Given the description of an element on the screen output the (x, y) to click on. 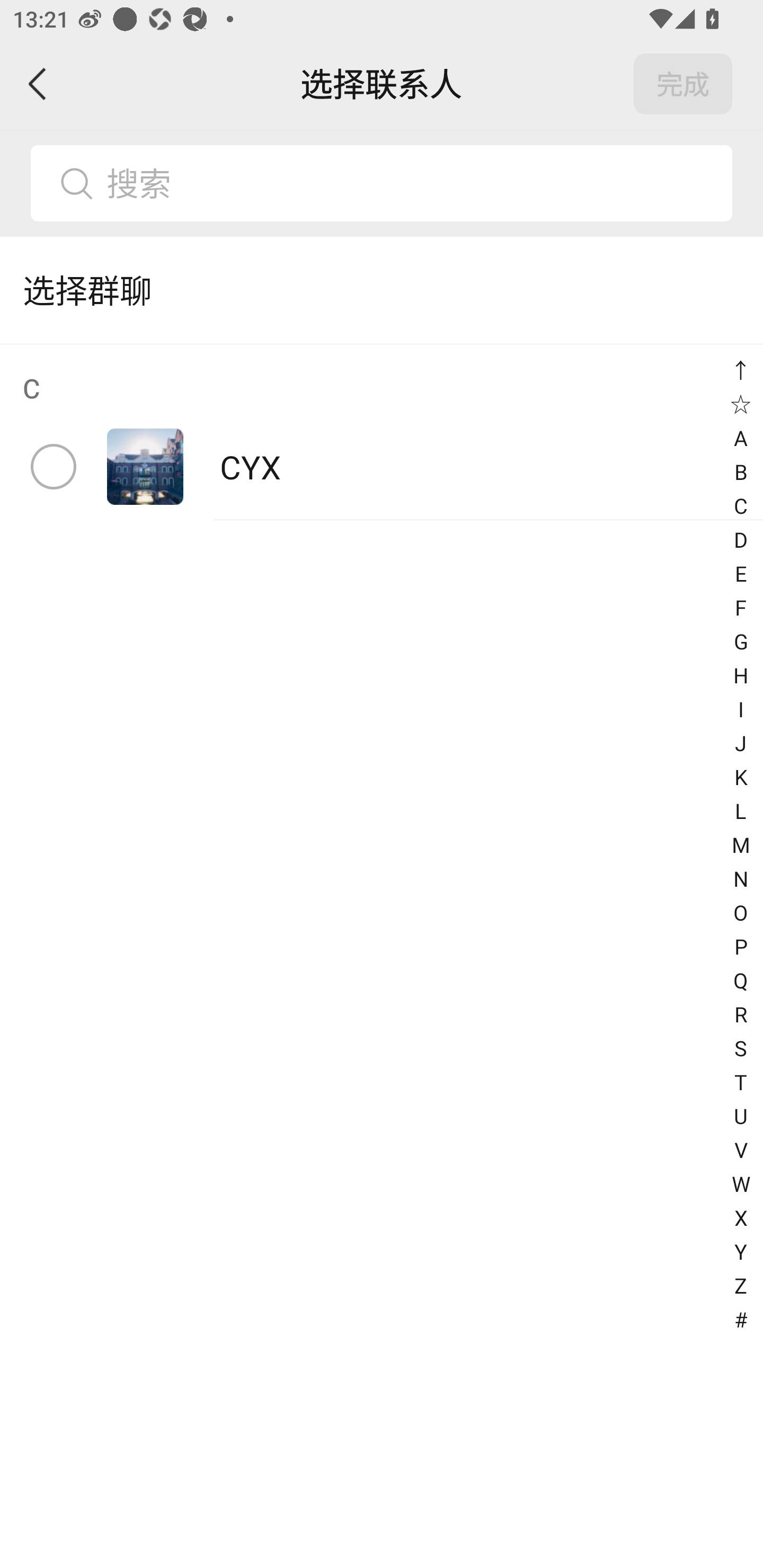
返回 (38, 83)
完成 (683, 83)
搜索 (381, 183)
搜索 (411, 183)
选择群聊 (381, 290)
C CYX (381, 432)
